Given the description of an element on the screen output the (x, y) to click on. 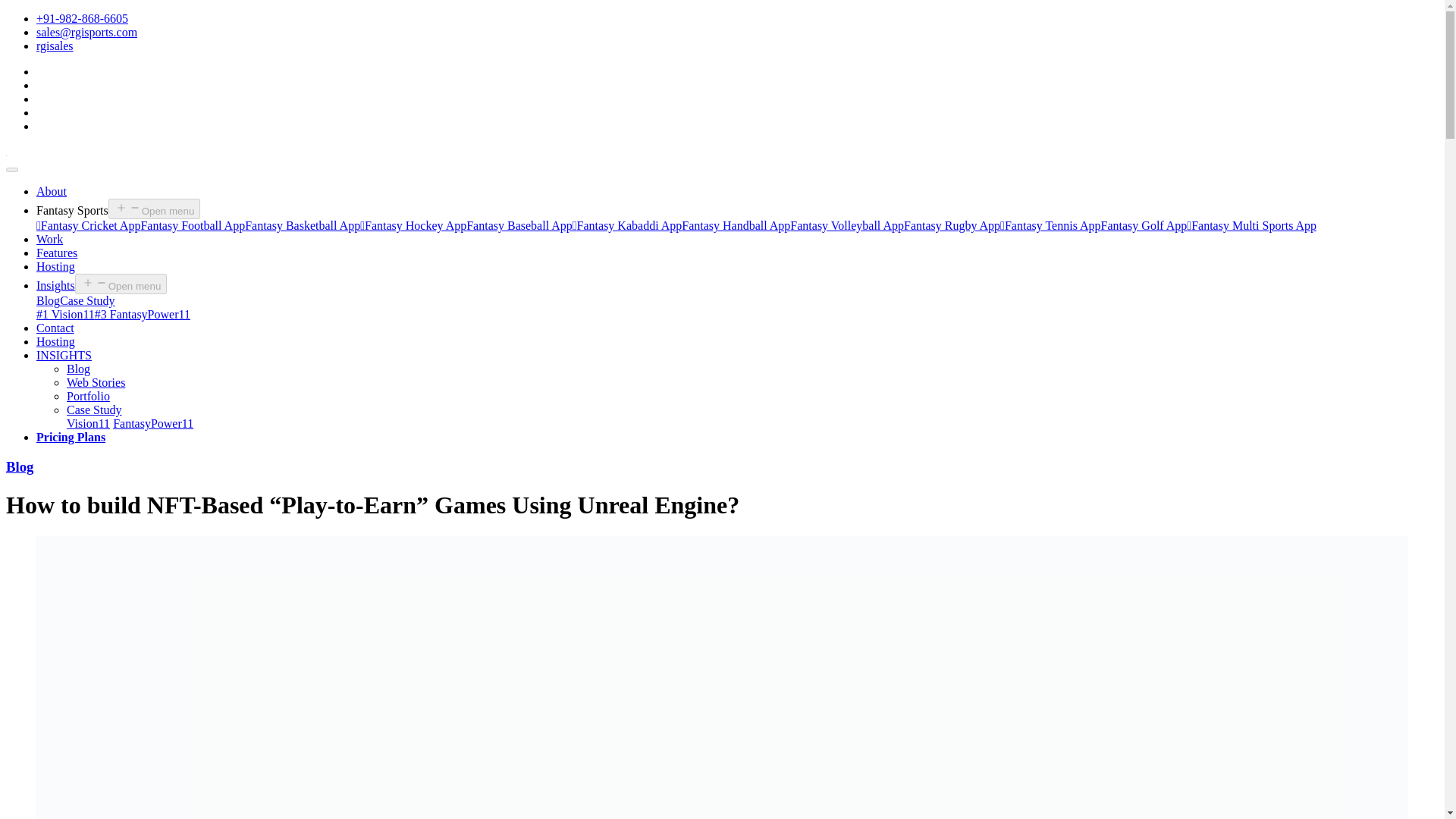
Fantasy Football App (191, 225)
Hosting (55, 266)
Fantasy Golf App (1144, 225)
Fantasy Sports (71, 210)
INSIGHTS (63, 354)
Fantasy Handball App (735, 225)
Blog (47, 300)
Work (49, 238)
Fantasy Basketball App (301, 225)
Insights (55, 285)
